Given the description of an element on the screen output the (x, y) to click on. 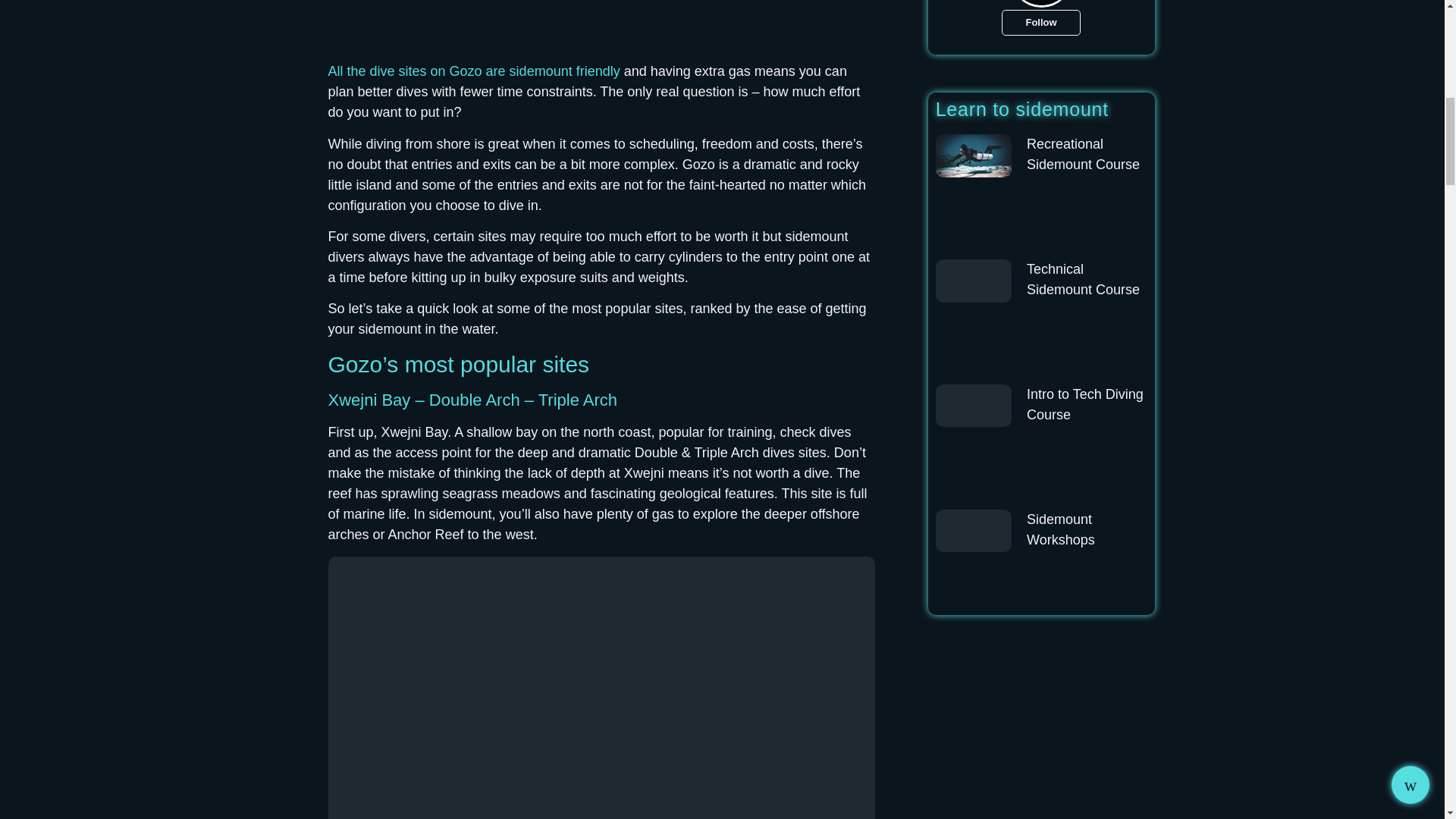
All the dive sites on Gozo are sidemount friendly (473, 70)
Recreational Sidemount Course (1083, 153)
Follow (1040, 22)
Technical Sidemount Course (1083, 279)
